Given the description of an element on the screen output the (x, y) to click on. 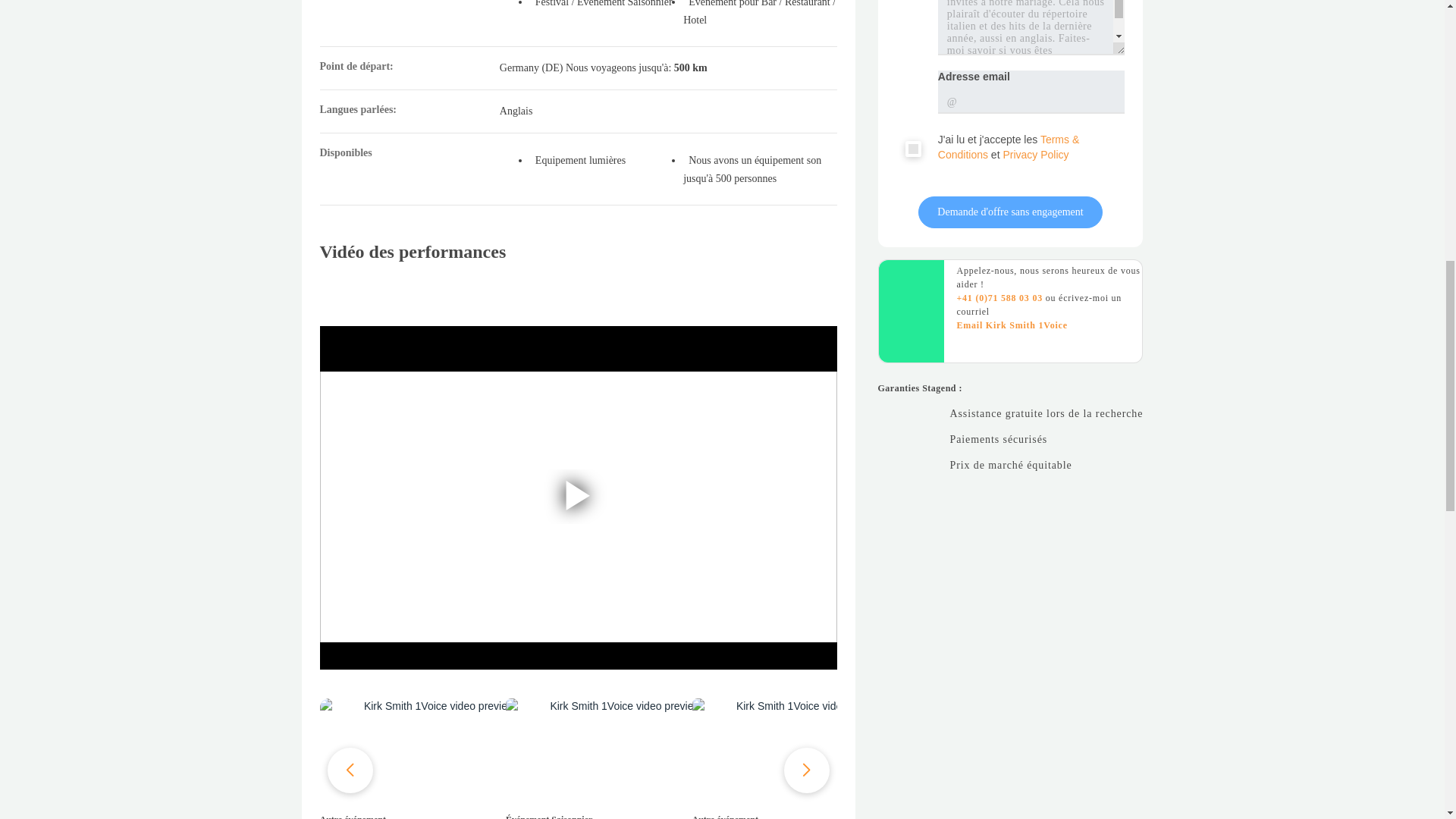
Email Kirk Smith 1Voice (1011, 325)
Privacy Policy (1035, 154)
Privacy Policy (1035, 154)
Demande d'offre sans engagement (1010, 212)
video preview (433, 751)
video preview (619, 751)
Stagend.com Helpdesk (999, 297)
video preview (806, 751)
